Given the description of an element on the screen output the (x, y) to click on. 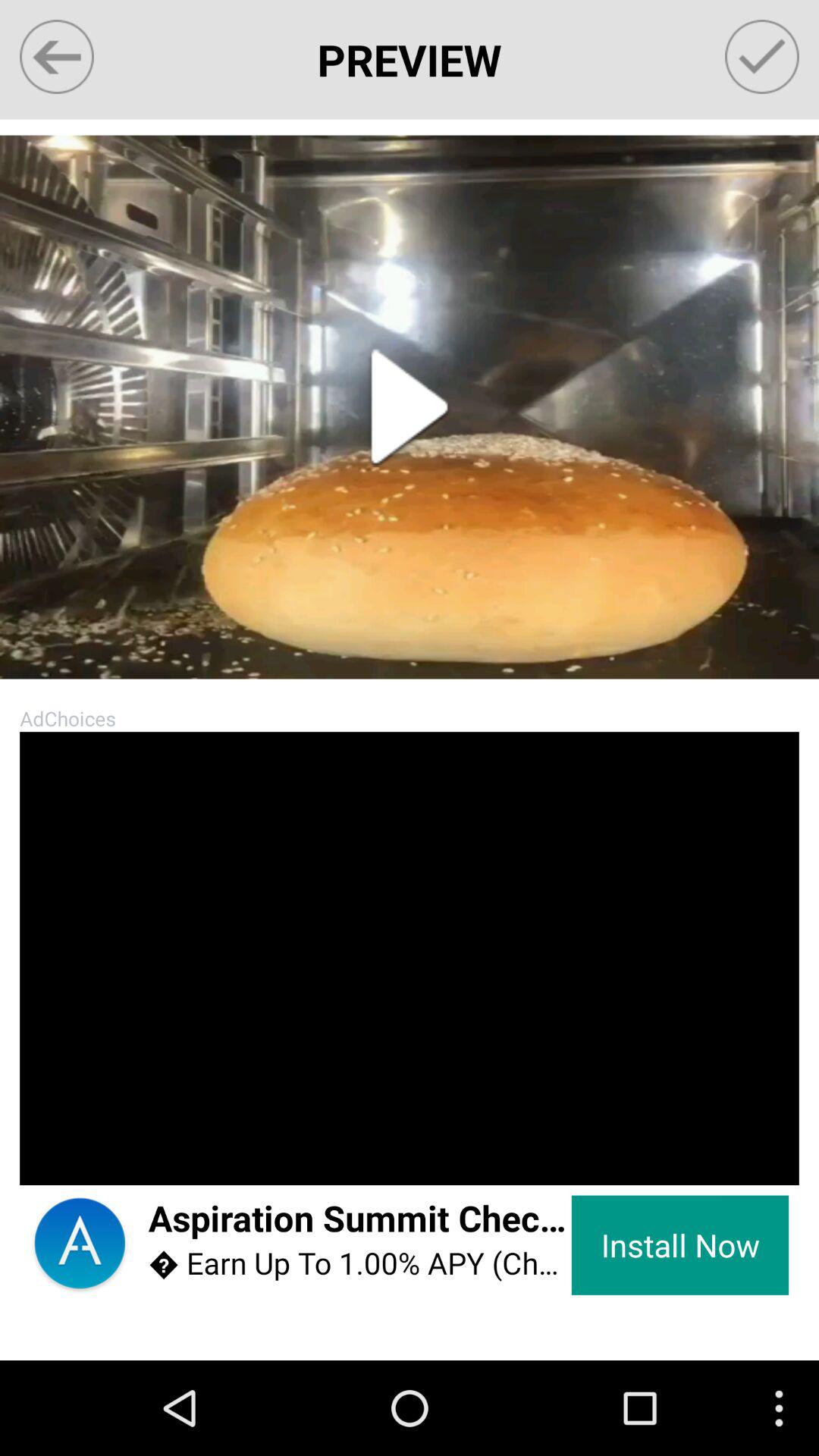
open earn up to app (359, 1263)
